Given the description of an element on the screen output the (x, y) to click on. 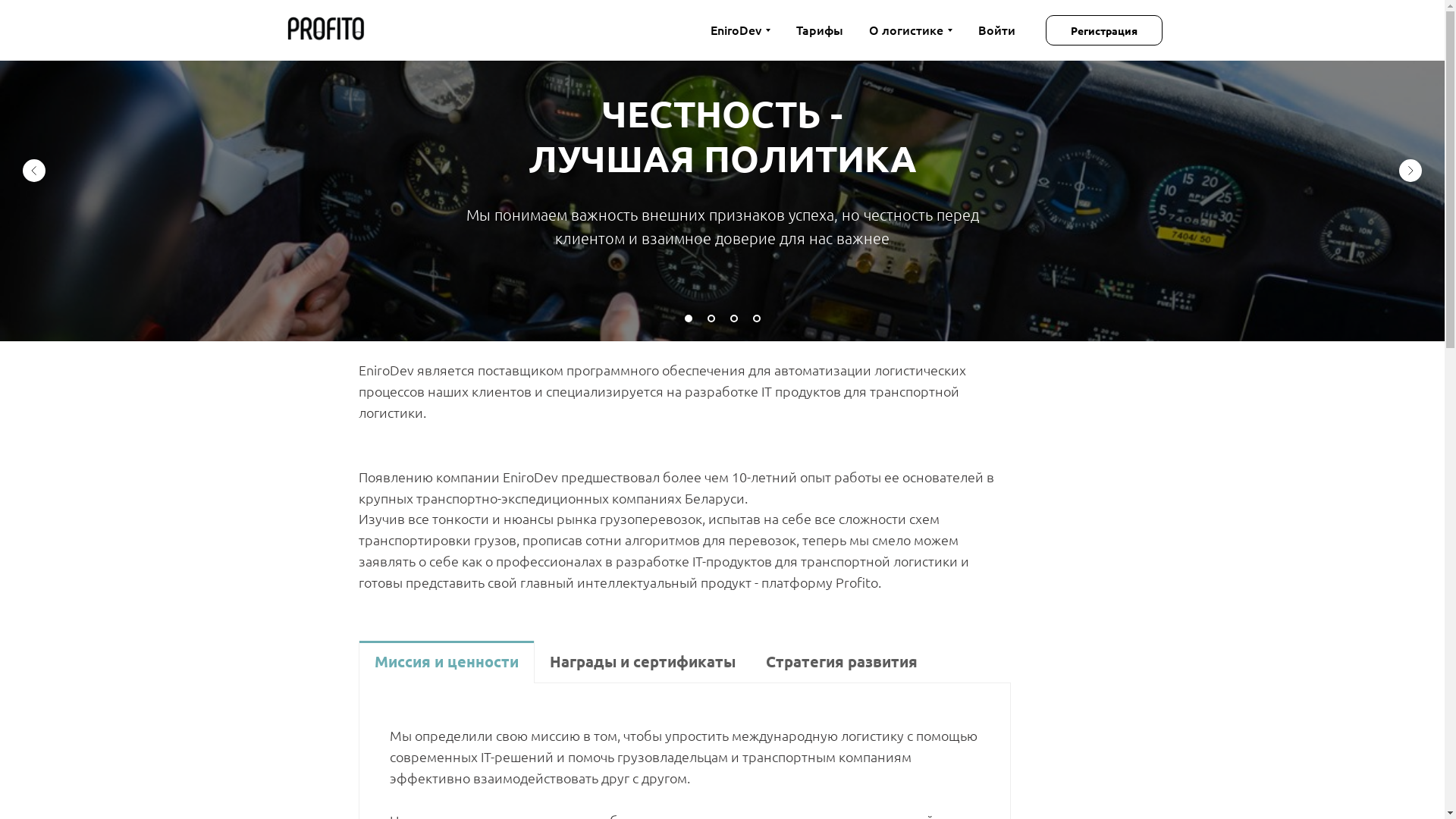
EniroDev Element type: text (739, 29)
